Given the description of an element on the screen output the (x, y) to click on. 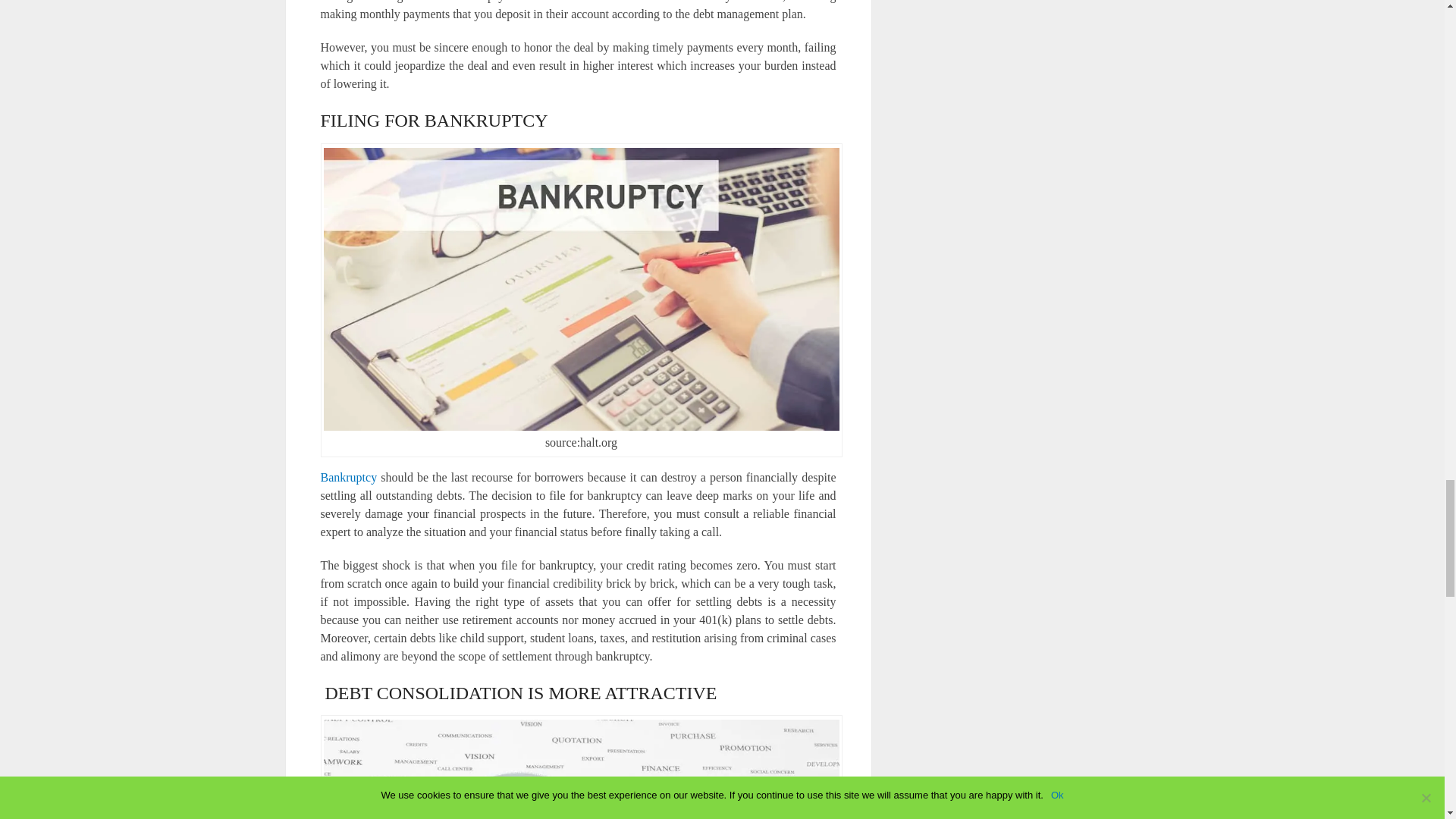
Bankruptcy (348, 477)
